Given the description of an element on the screen output the (x, y) to click on. 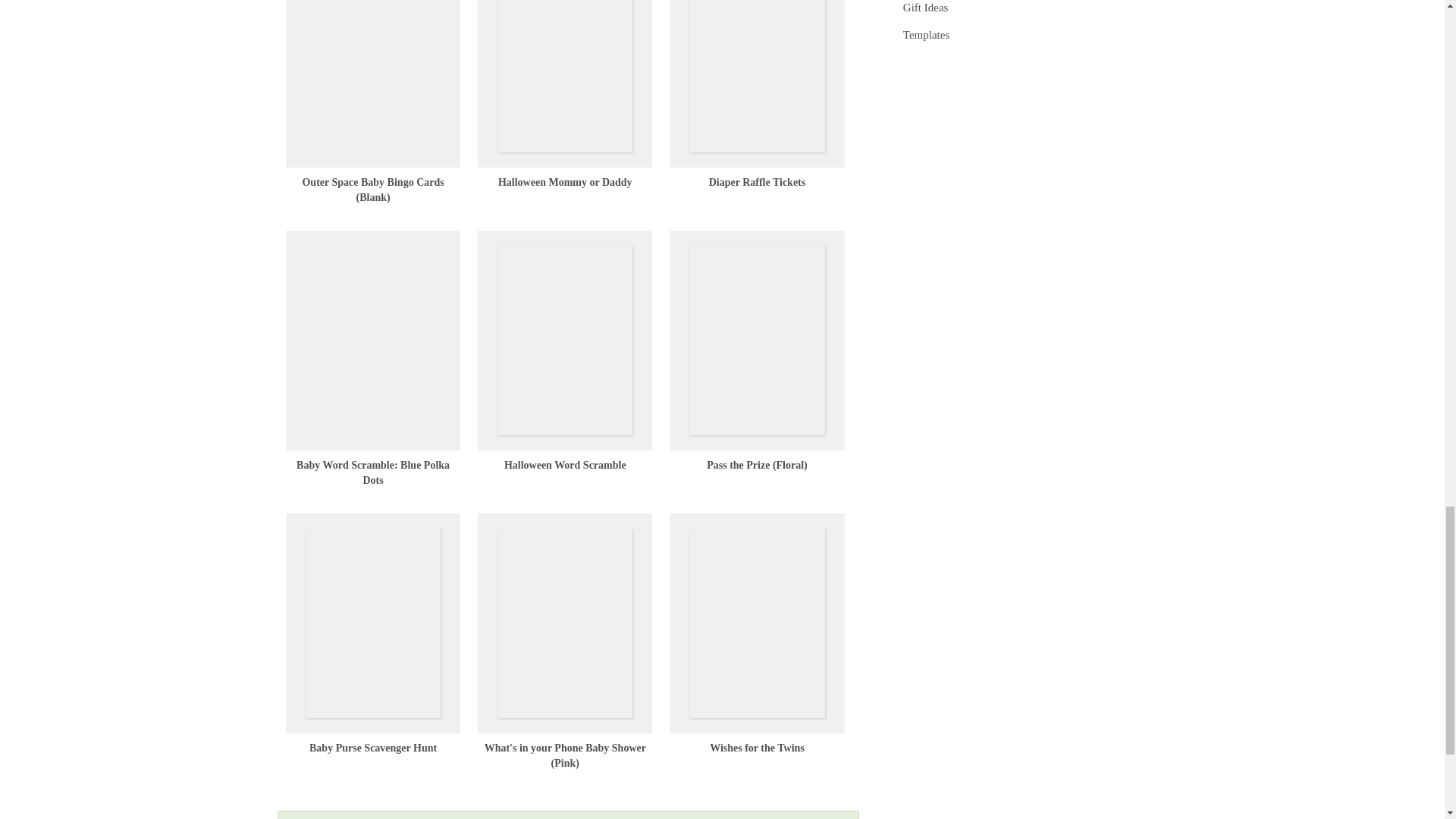
Halloween Mommy or Daddy (564, 182)
Diaper Raffle Tickets (757, 182)
Baby Word Scramble: Blue Polka Dots (373, 472)
Halloween Word Scramble (564, 464)
